Given the description of an element on the screen output the (x, y) to click on. 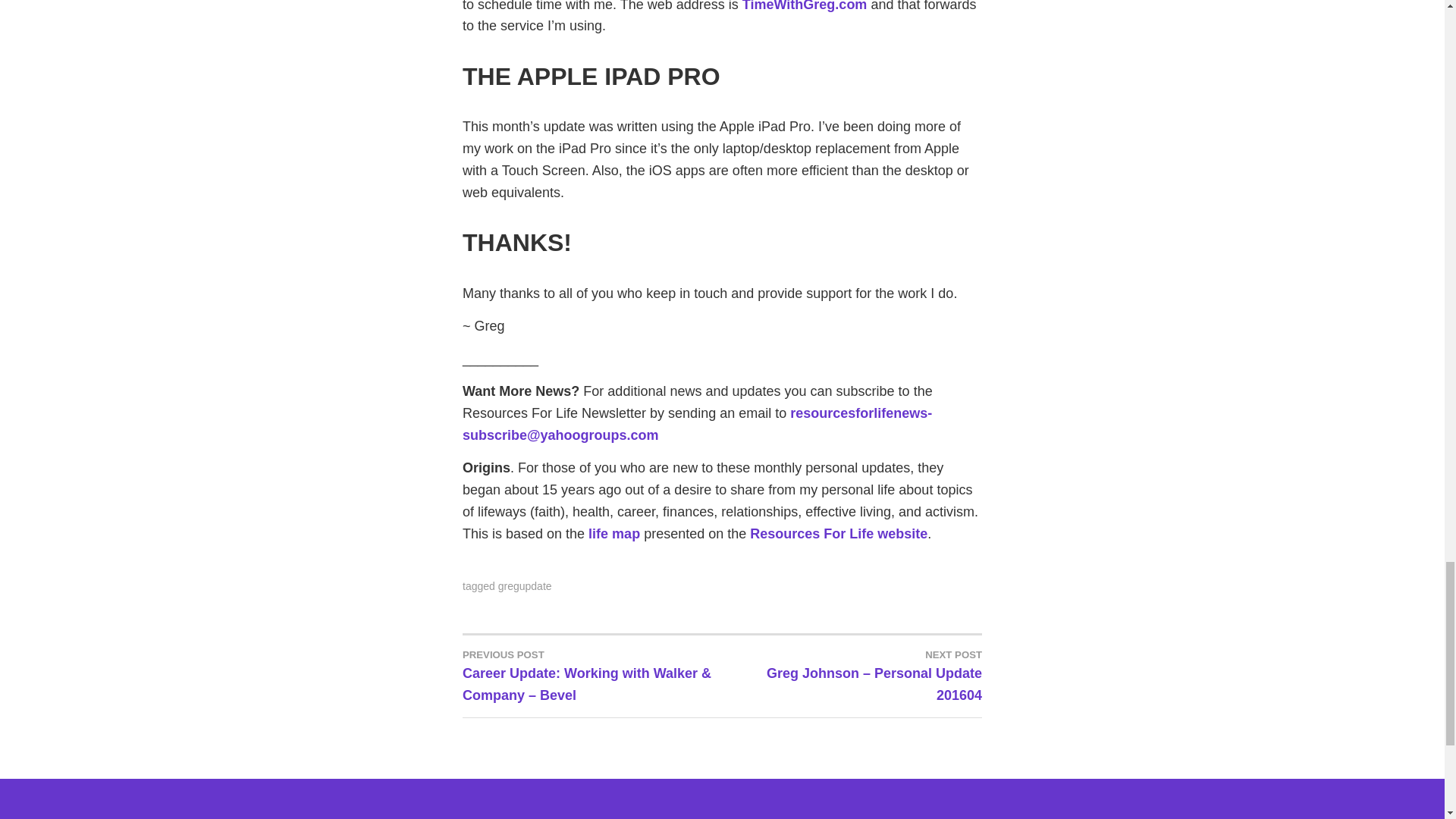
TimeWithGreg.com (804, 6)
life map (614, 533)
Resources For Life website (838, 533)
gregupdate (524, 585)
